Given the description of an element on the screen output the (x, y) to click on. 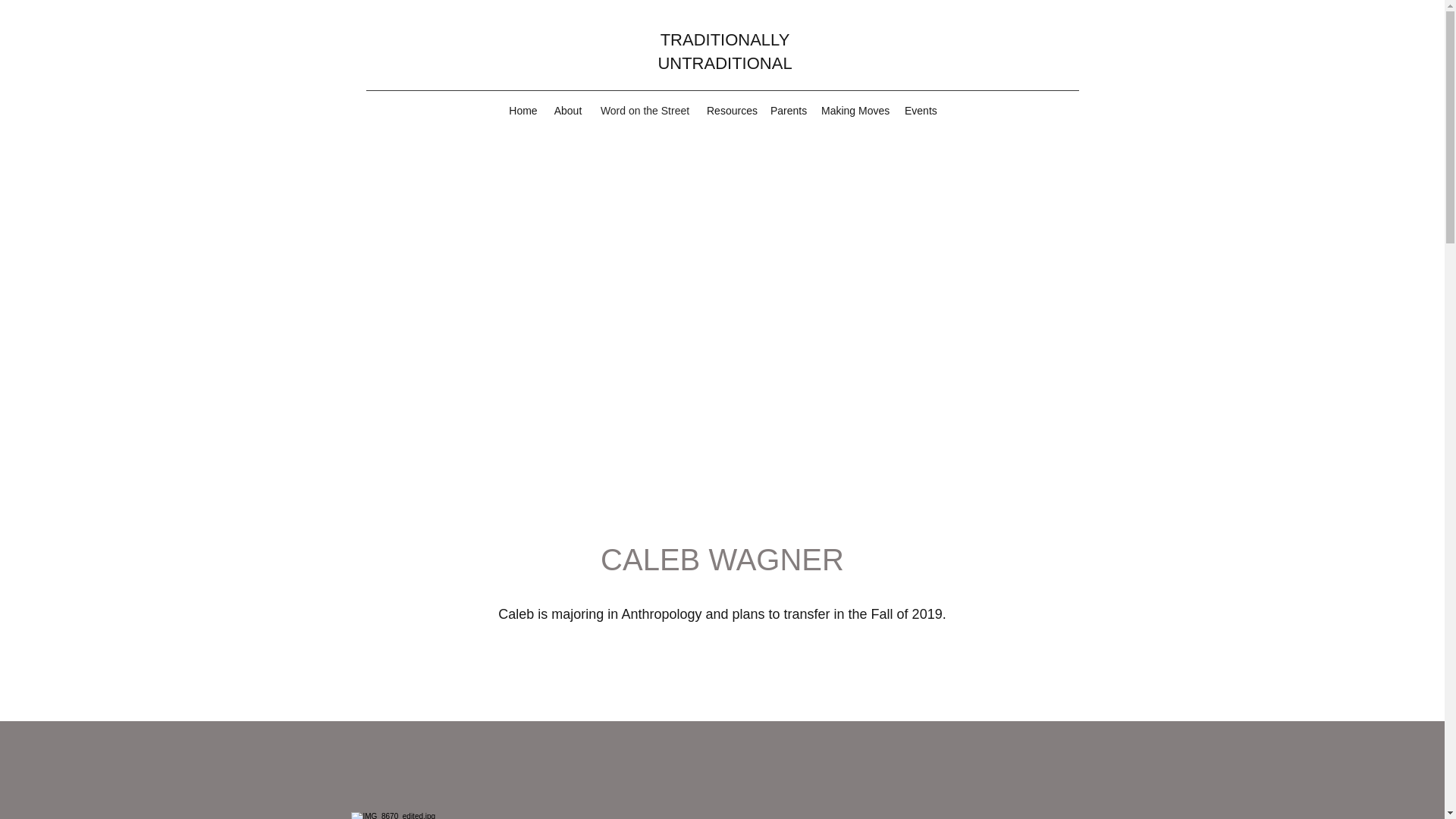
Home (522, 110)
Resources (730, 110)
TRADITIONALLY UNTRADITIONAL (725, 51)
Word on the Street (644, 110)
About (567, 110)
